Given the description of an element on the screen output the (x, y) to click on. 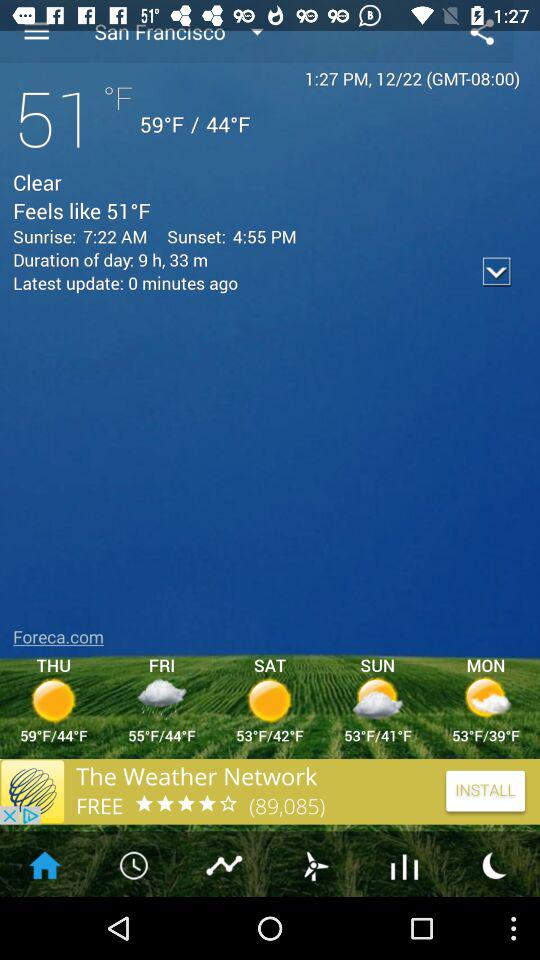
select the weather icon of saturday (269, 699)
select the icon at right side of home icon (134, 864)
click on the drop down which is to the right of menu button (191, 31)
